Given the description of an element on the screen output the (x, y) to click on. 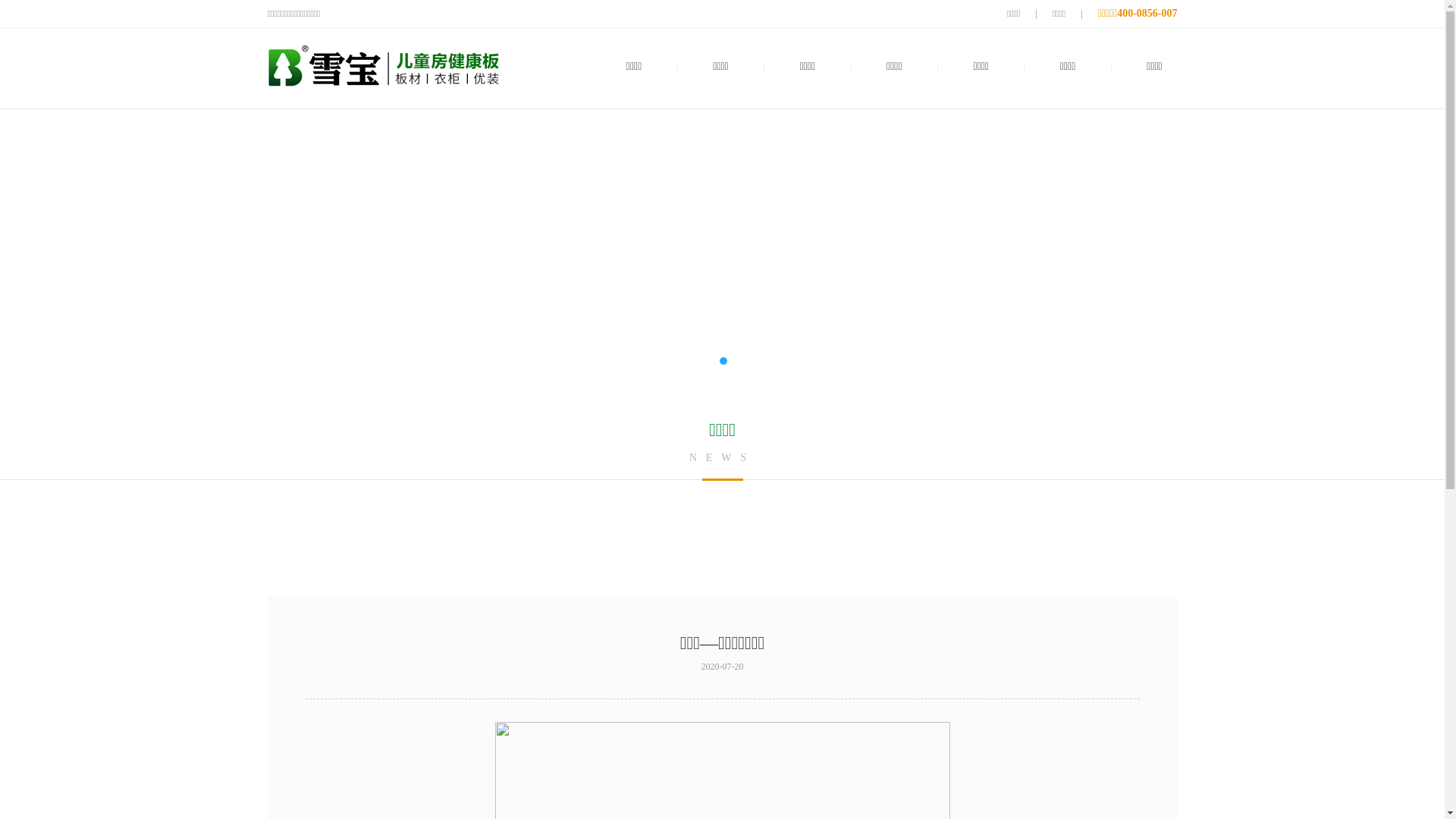
1 Element type: text (721, 360)
